Given the description of an element on the screen output the (x, y) to click on. 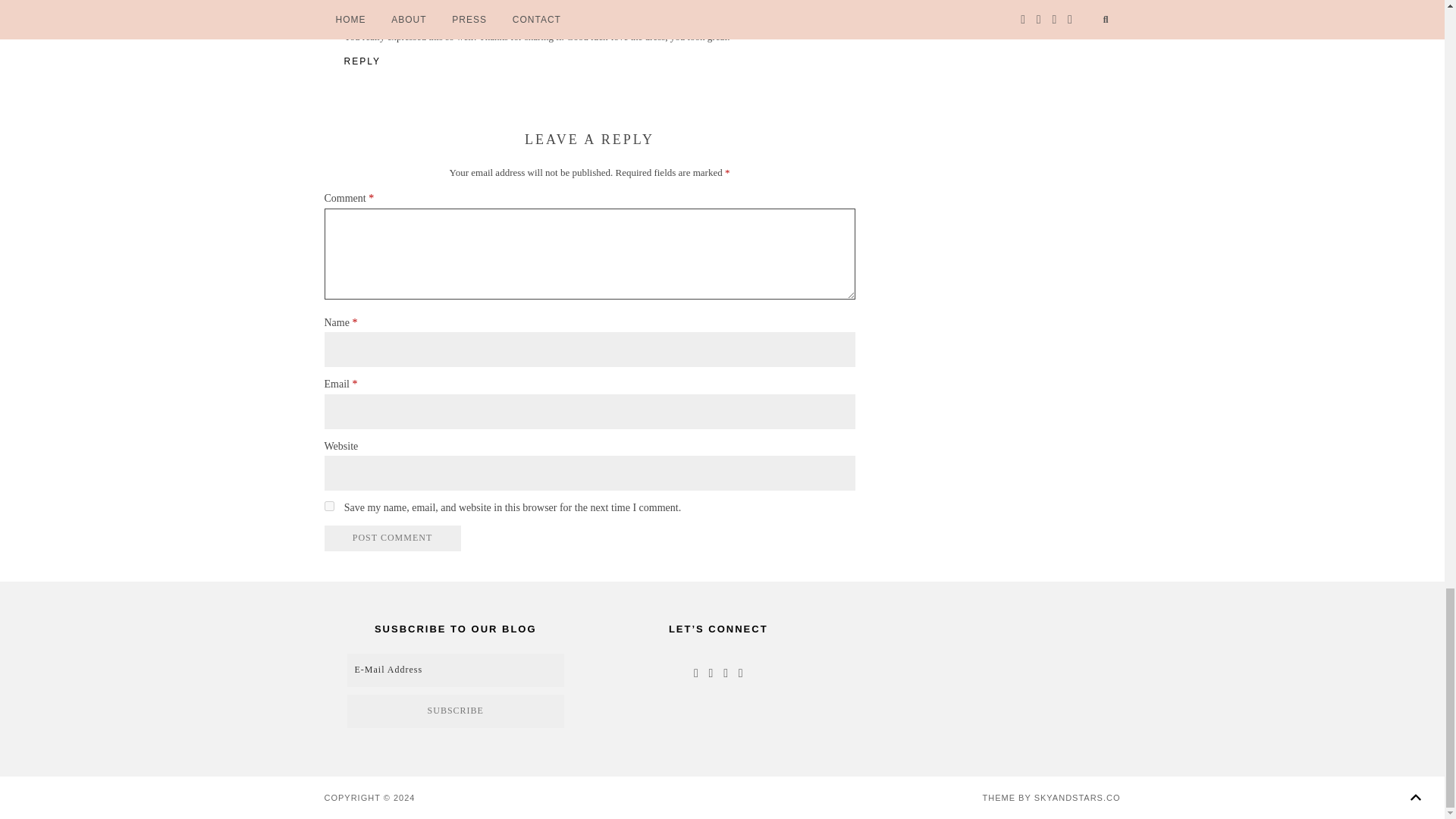
Subscribe (455, 711)
yes (329, 506)
Post Comment (392, 538)
Subscribe (1006, 6)
May 24, 2017 at 3:54 pm (438, 10)
Post Comment (392, 538)
PAULA (360, 10)
REPLY (361, 61)
